Given the description of an element on the screen output the (x, y) to click on. 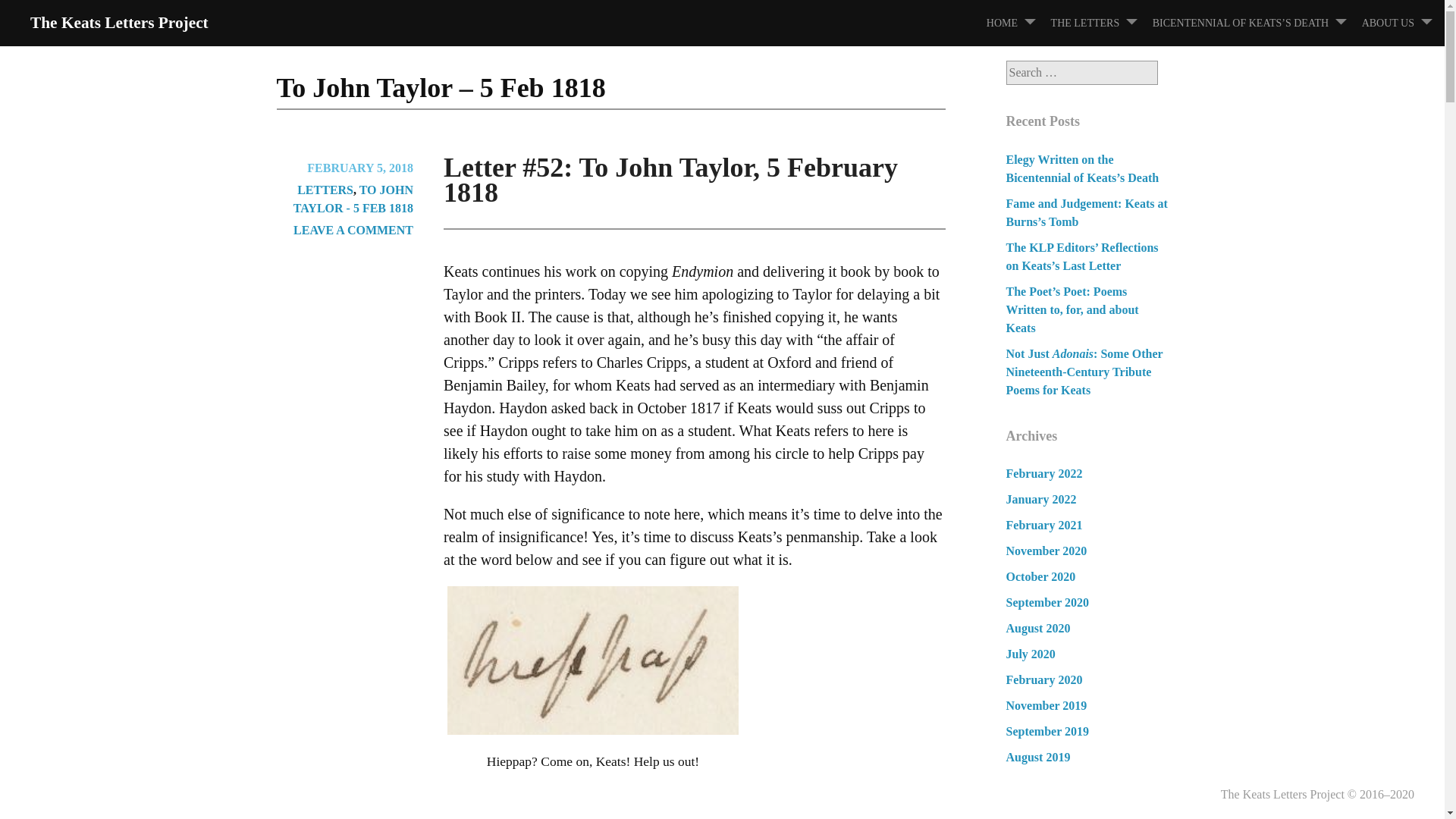
HOME (1017, 22)
The Keats Letters Project (119, 22)
THE LETTERS (1100, 22)
